Given the description of an element on the screen output the (x, y) to click on. 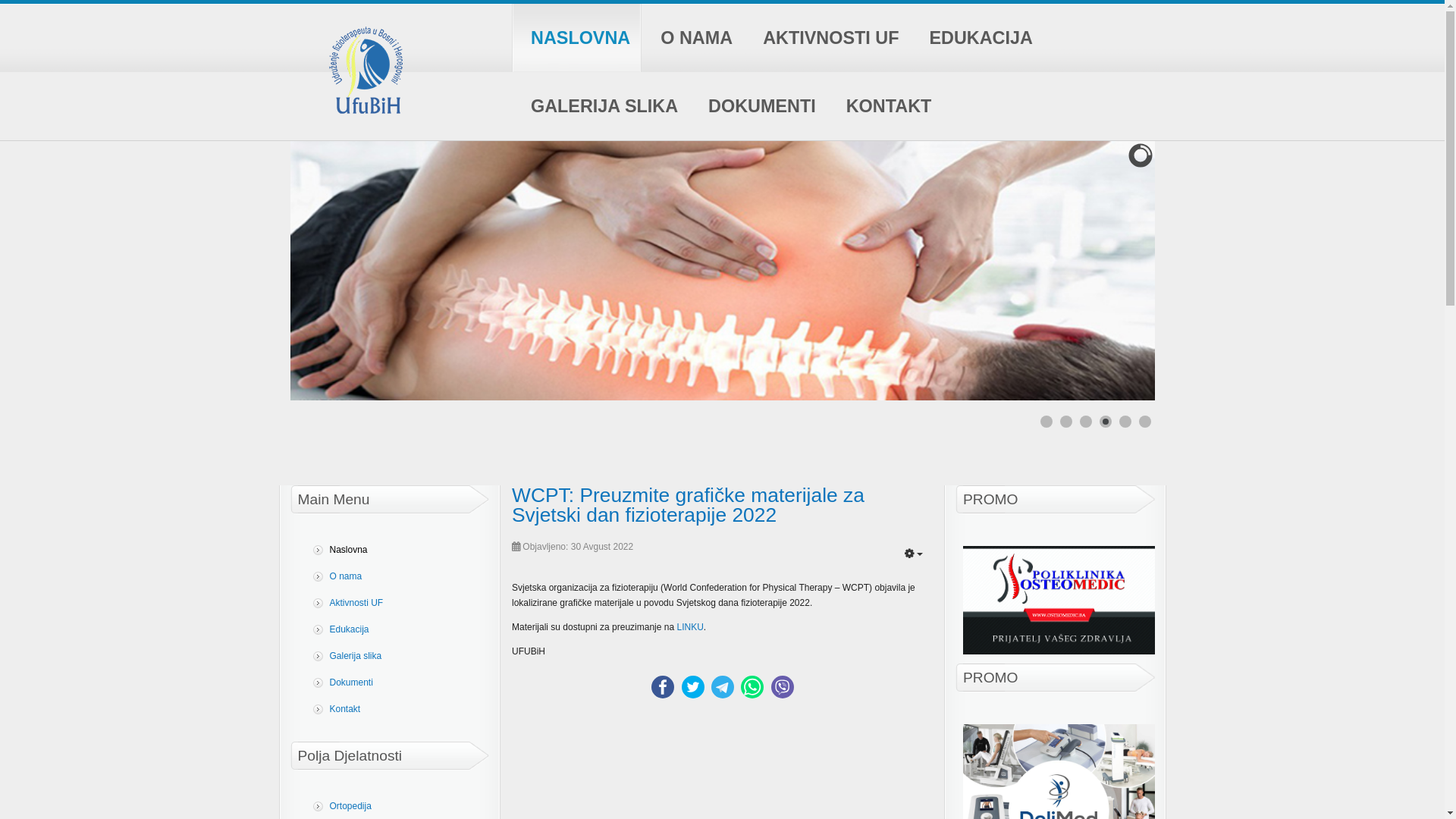
GALERIJA SLIKA Element type: text (600, 106)
Twitter Element type: hover (692, 686)
O NAMA Element type: text (692, 37)
FaceBook Element type: hover (662, 686)
Kontakt Element type: text (392, 709)
NASLOVNA Element type: text (576, 37)
Dokumenti Element type: text (392, 682)
WhatsApp Element type: hover (751, 686)
AKTIVNOSTI UF Element type: text (826, 37)
Viber Element type: hover (782, 686)
Centar za fizikalnu medicinu i kiropraktiku Lukavac Element type: hover (1058, 600)
KONTAKT Element type: text (885, 106)
LINKU Element type: text (689, 626)
Edukacija Element type: text (392, 629)
EDUKACIJA Element type: text (976, 37)
Aktivnosti UF Element type: text (392, 602)
O nama Element type: text (392, 576)
DOKUMENTI Element type: text (758, 106)
Galerija slika Element type: text (392, 656)
Telegram Element type: hover (722, 686)
Naslovna Element type: text (392, 549)
